Given the description of an element on the screen output the (x, y) to click on. 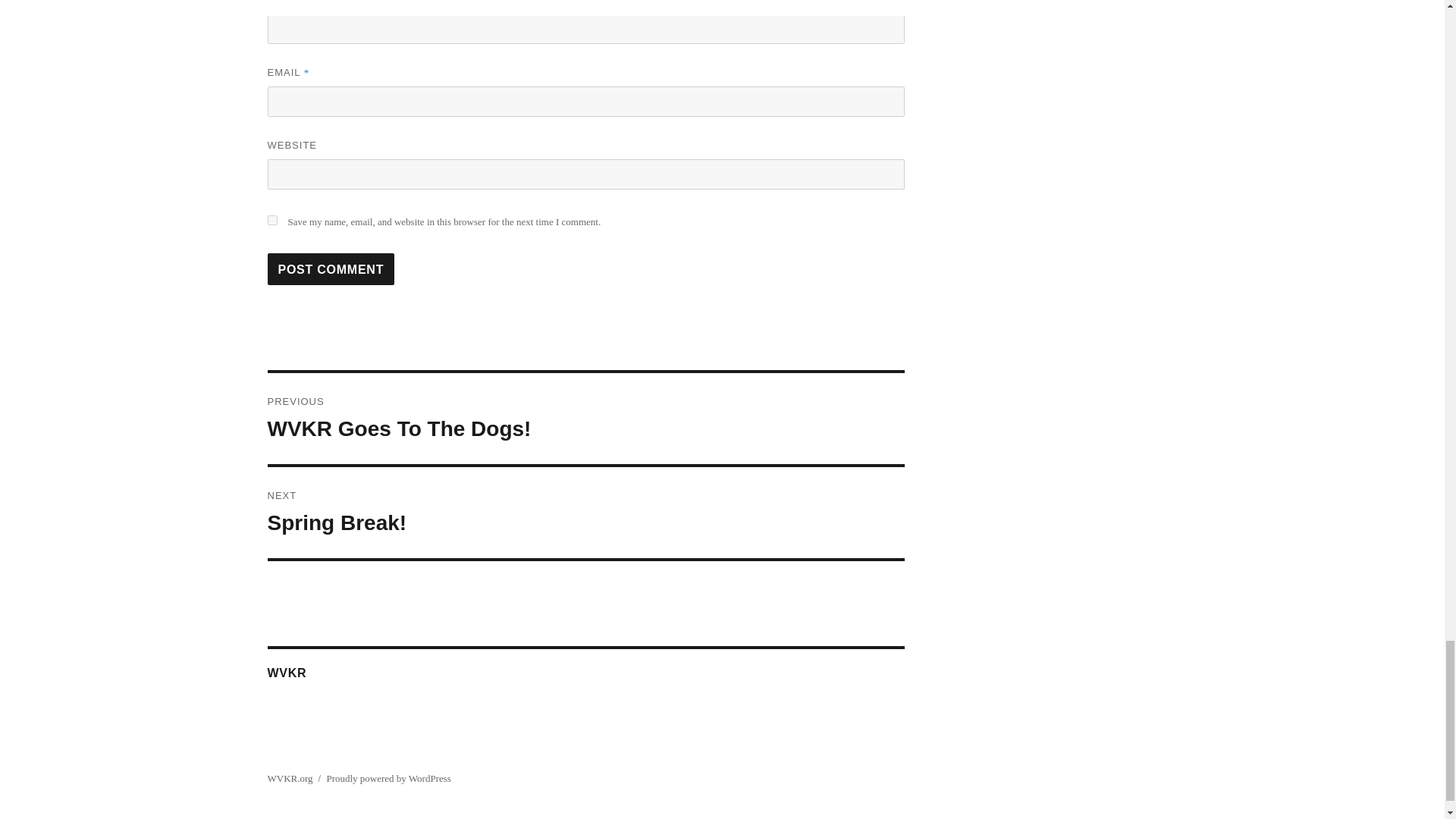
WVKR.org (289, 778)
Post Comment (330, 269)
Proudly powered by WordPress (585, 511)
yes (387, 778)
Post Comment (585, 418)
